Given the description of an element on the screen output the (x, y) to click on. 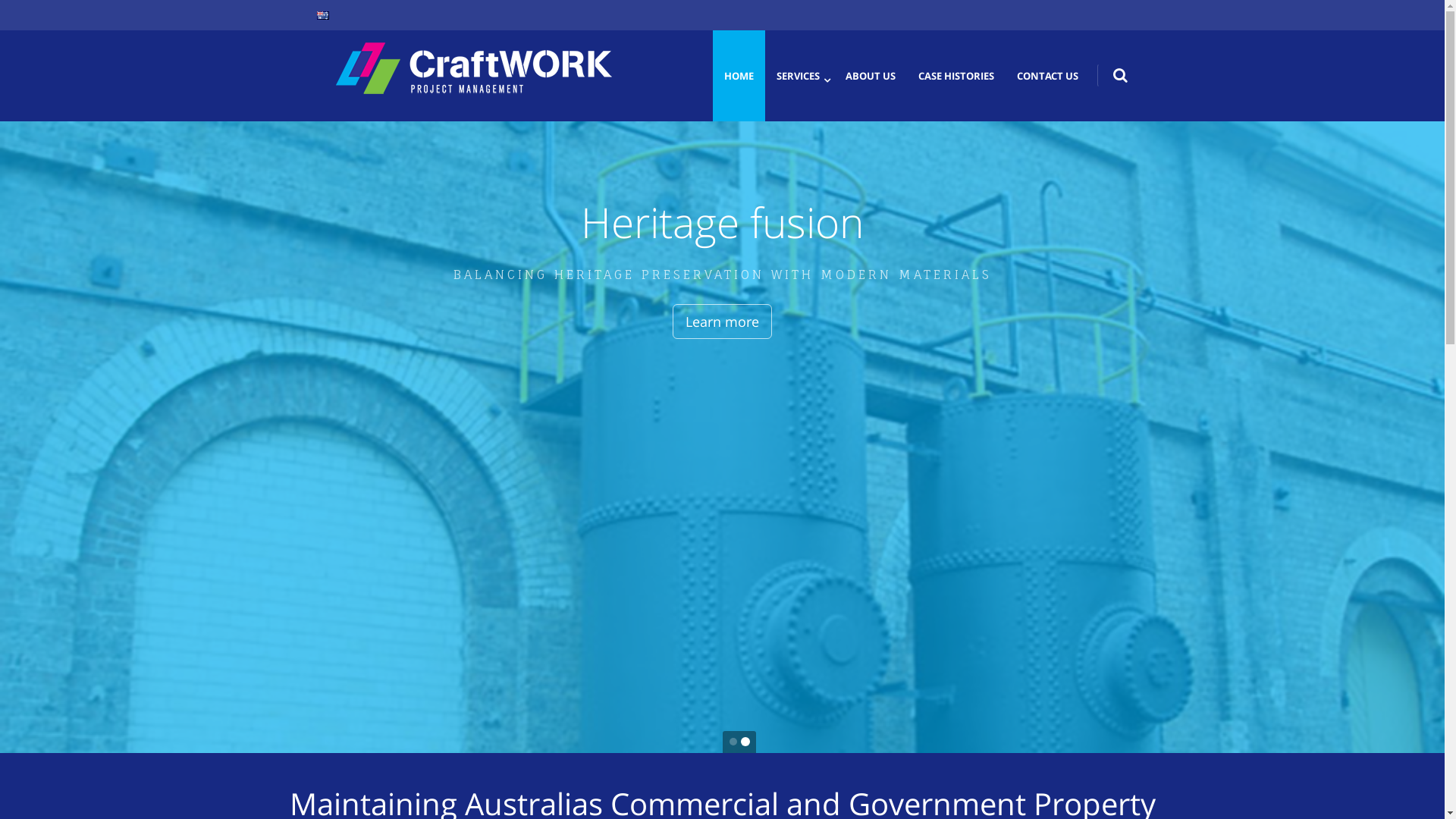
CASE HISTORIES Element type: text (955, 75)
Learn more Element type: text (741, 321)
HOME Element type: text (738, 75)
CONTACT US Element type: text (1047, 75)
SERVICES Element type: text (797, 75)
ABOUT US Element type: text (870, 75)
